Given the description of an element on the screen output the (x, y) to click on. 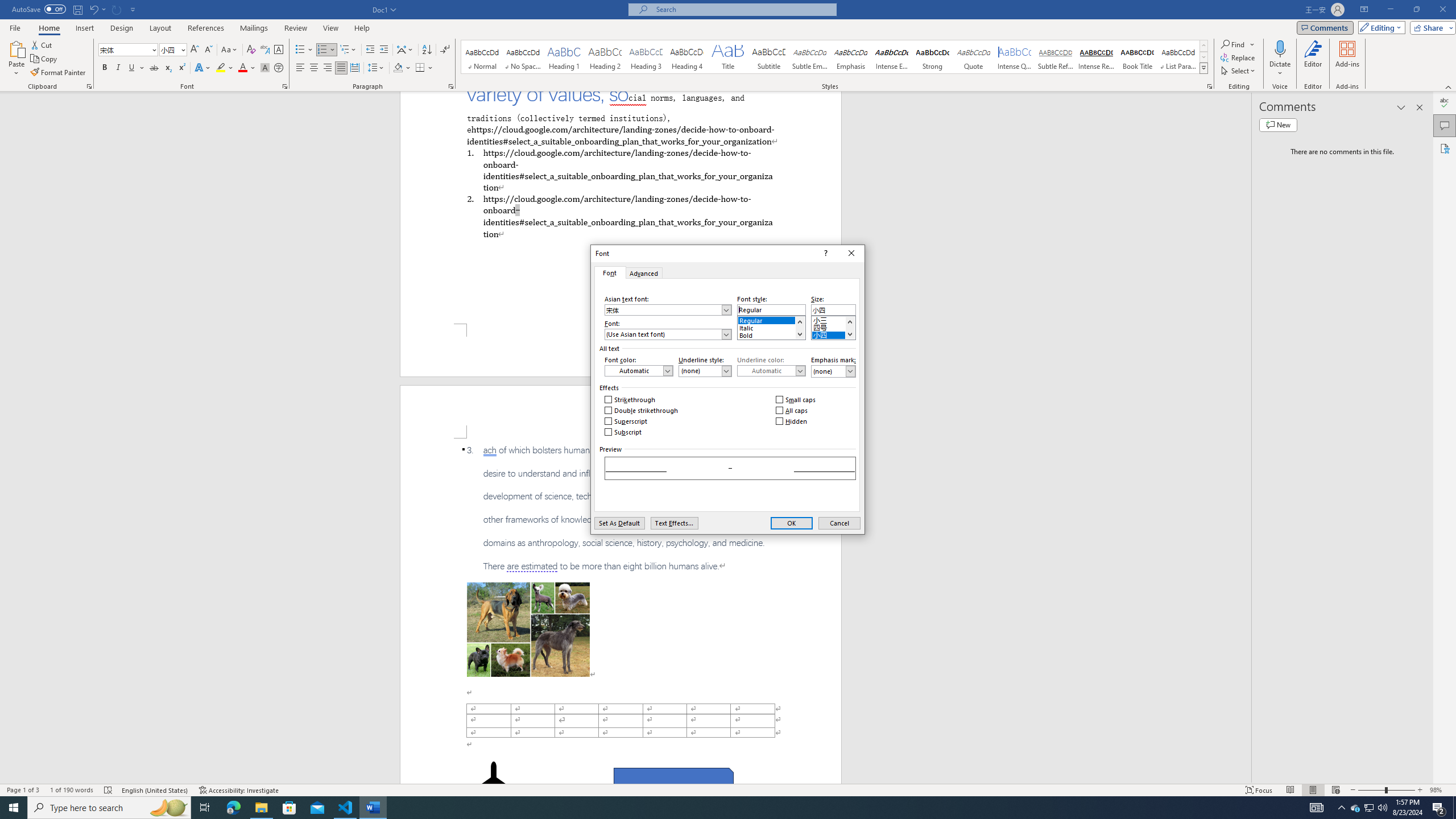
Visual Studio Code - 1 running window (345, 807)
2. (620, 216)
Enclose Characters... (278, 67)
Size: (833, 309)
Cut (42, 44)
Borders (419, 67)
Phonetic Guide... (264, 49)
Borders (424, 67)
Open (182, 49)
1. (620, 169)
Subscript (167, 67)
Underline (136, 67)
Book Title (1136, 56)
AutomationID: 1795 (799, 327)
